Given the description of an element on the screen output the (x, y) to click on. 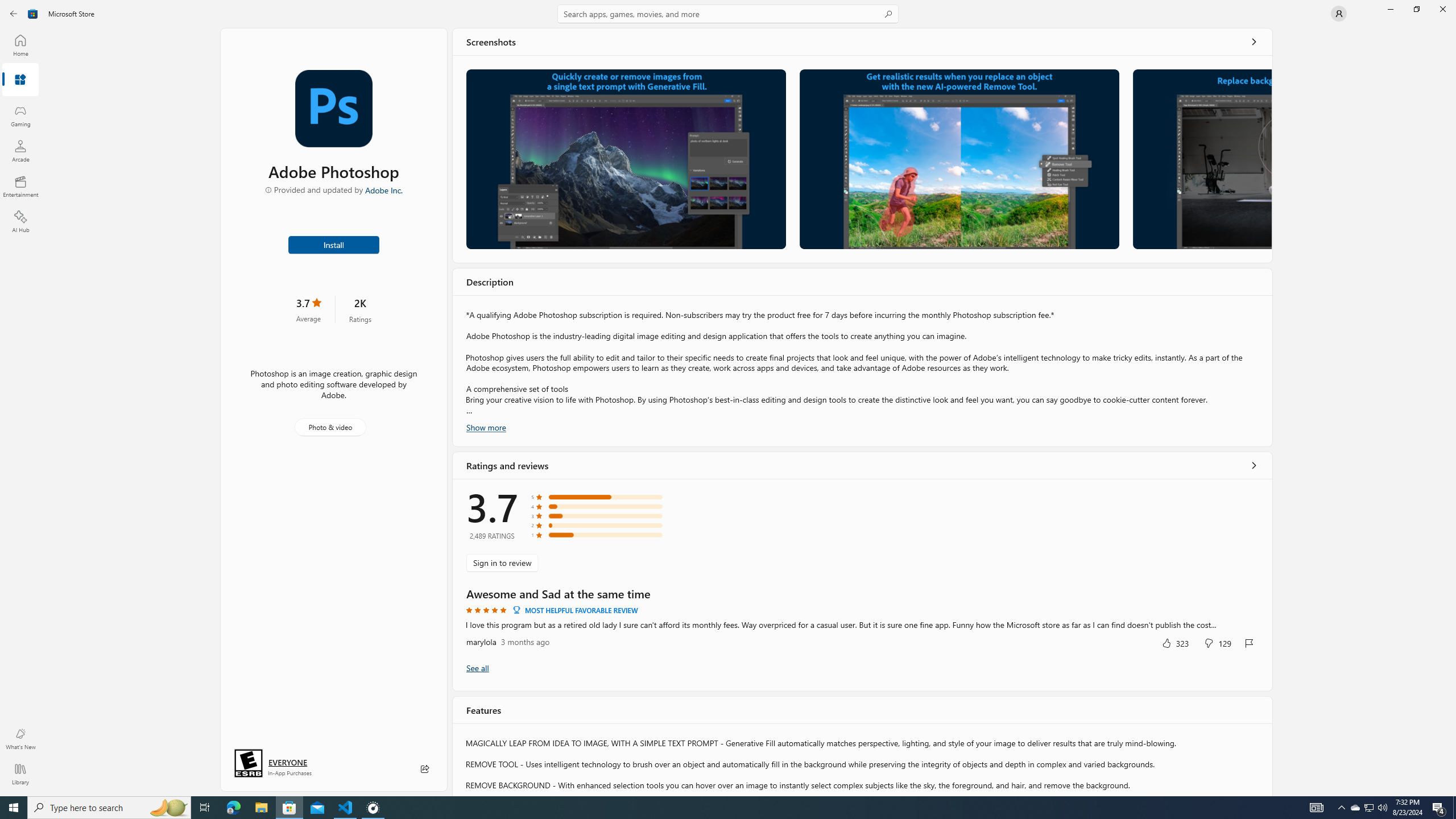
AutomationID: NavigationControl (728, 398)
Back (13, 13)
